Given the description of an element on the screen output the (x, y) to click on. 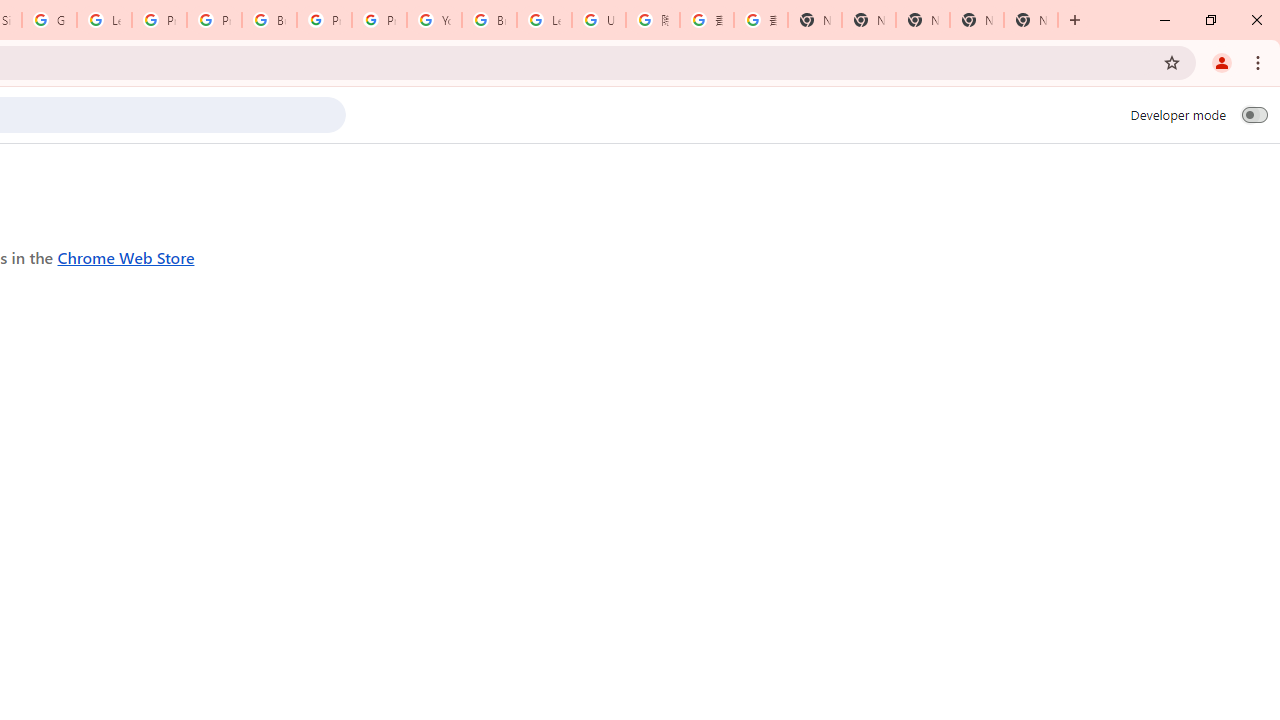
Browse Chrome as a guest - Computer - Google Chrome Help (489, 20)
Privacy Help Center - Policies Help (158, 20)
New Tab (1030, 20)
YouTube (434, 20)
Developer mode (1254, 114)
